Given the description of an element on the screen output the (x, y) to click on. 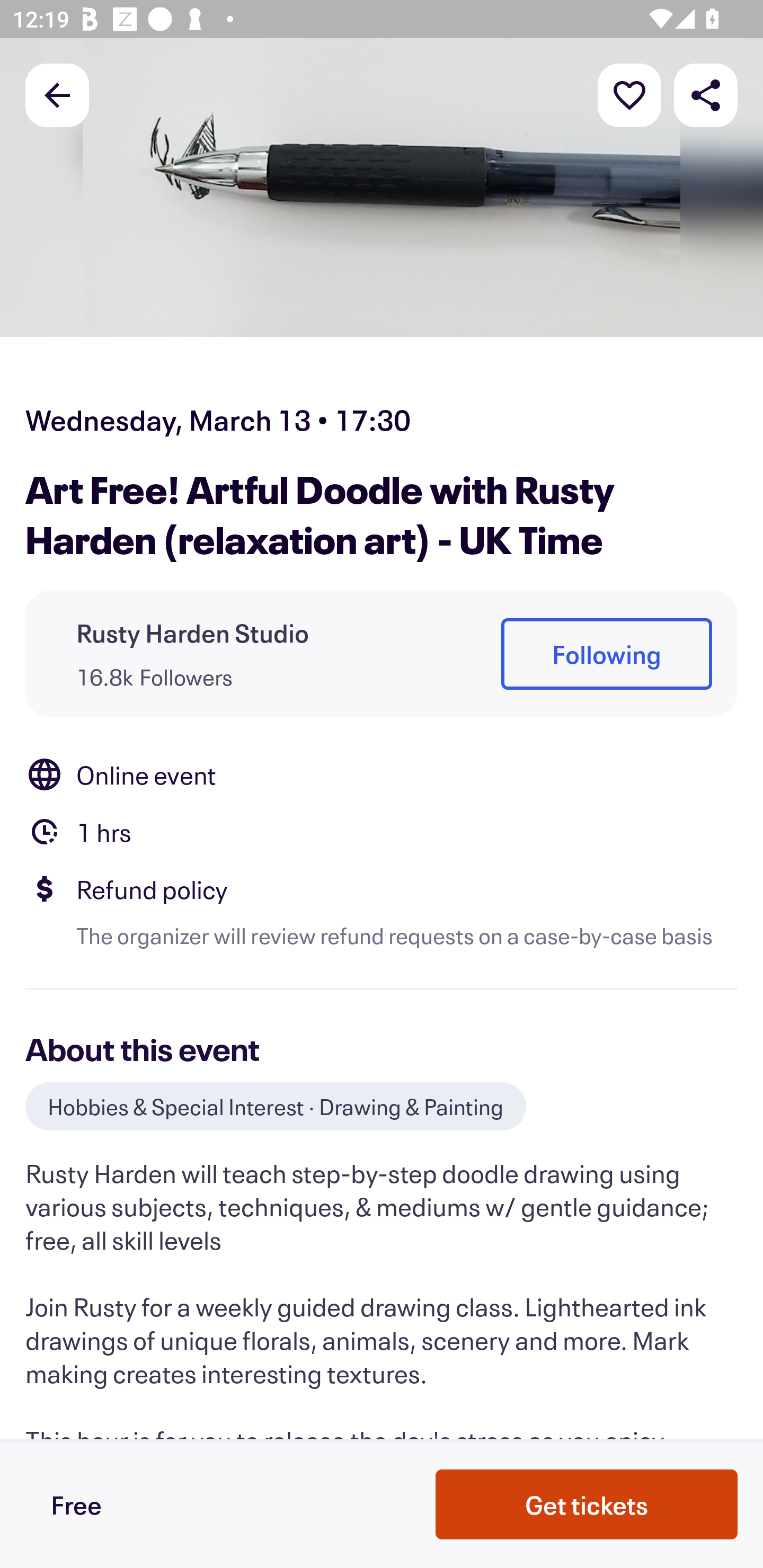
Back (57, 94)
More (629, 94)
Share (705, 94)
Rusty Harden Studio (192, 632)
Following (606, 654)
Location Online event (381, 774)
Get tickets (586, 1504)
